Given the description of an element on the screen output the (x, y) to click on. 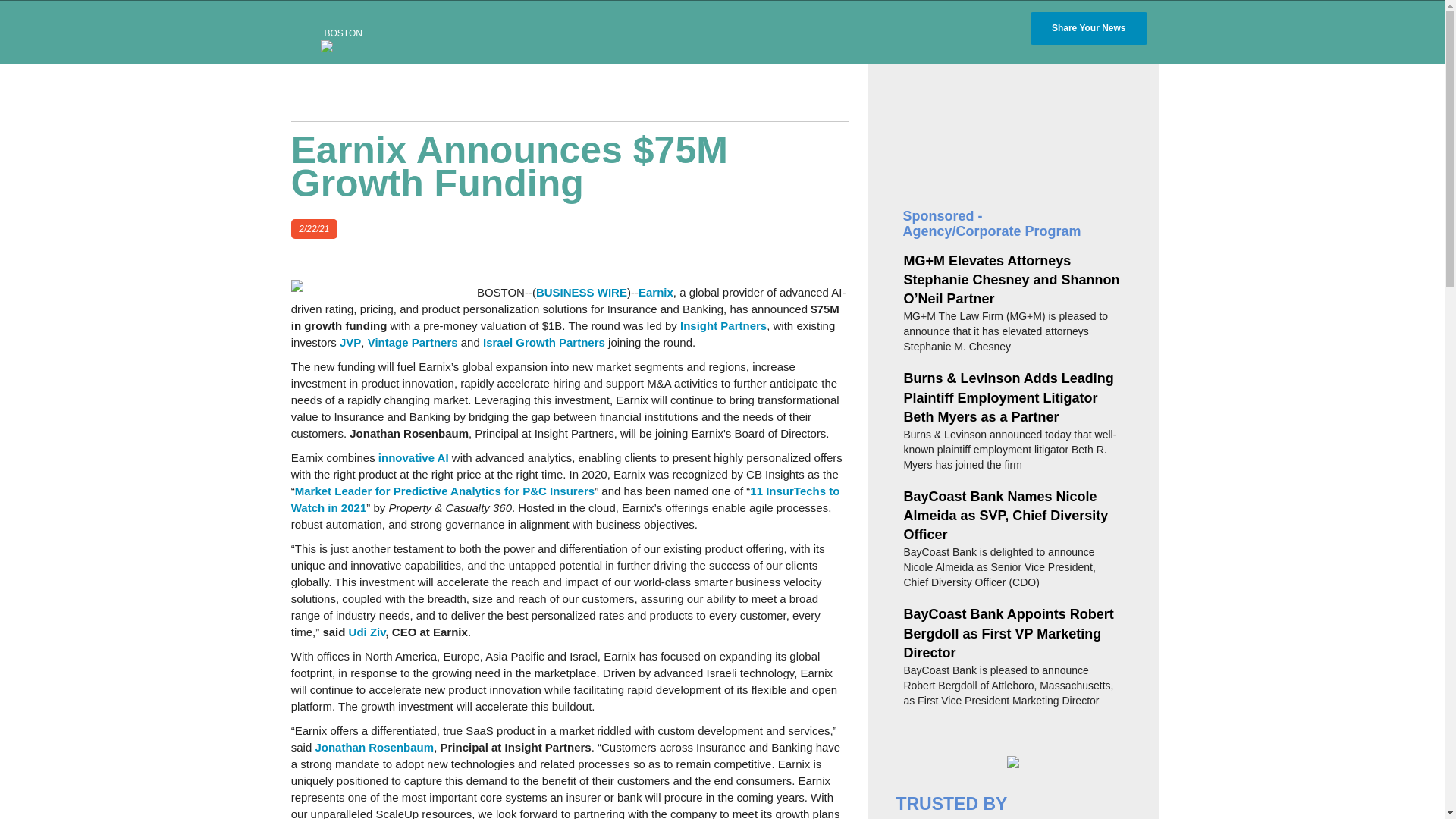
Share Your News (1088, 28)
JVP (350, 341)
Israel Growth Partners (544, 341)
Insight Partners (723, 325)
Vintage Partners (413, 341)
11 InsurTechs to Watch in 2021 (565, 499)
Udi Ziv (367, 631)
Earnix (655, 291)
